Given the description of an element on the screen output the (x, y) to click on. 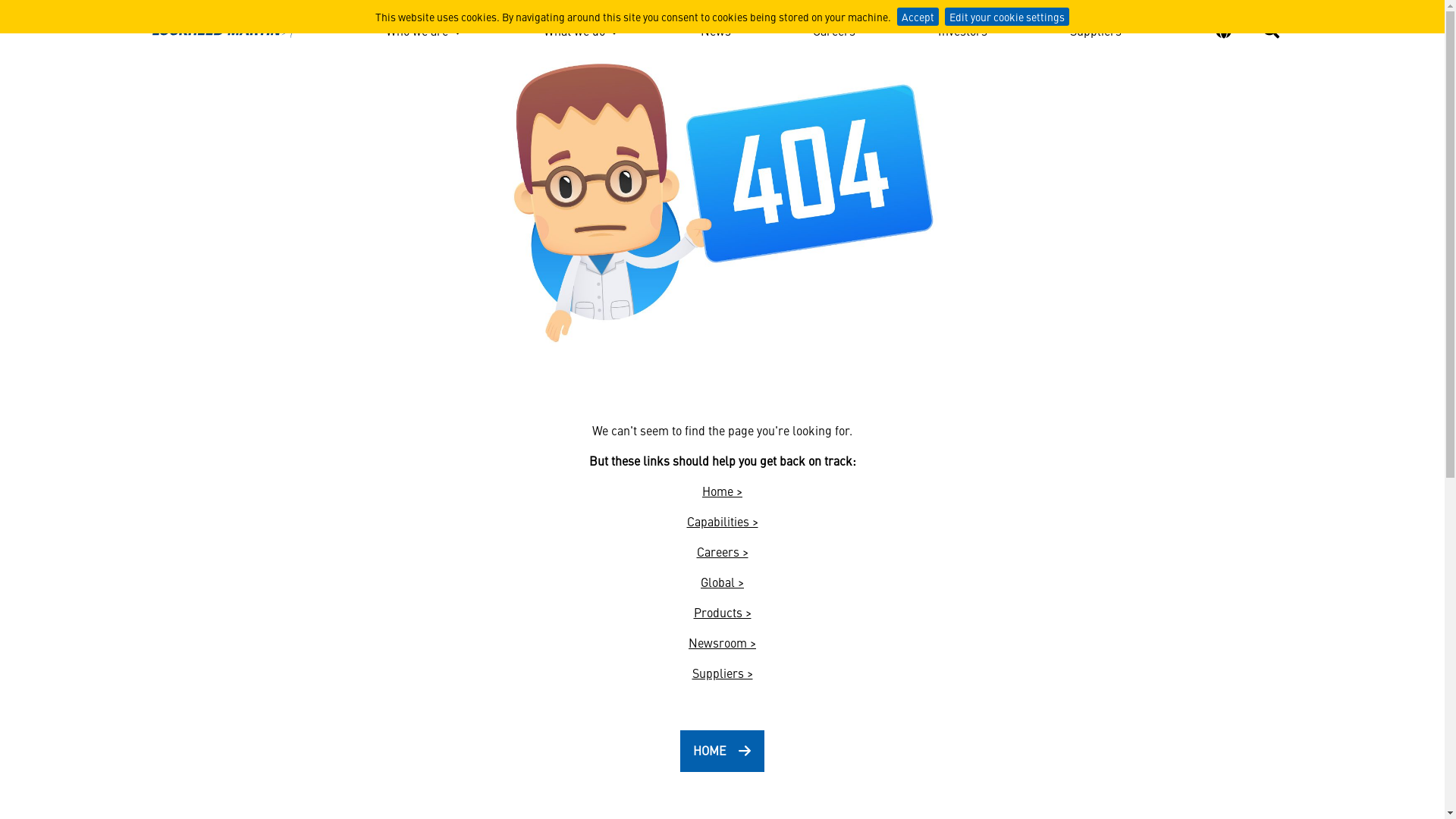
News Element type: text (715, 32)
Global > Element type: text (721, 581)
HOME Element type: text (722, 750)
Edit your cookie settings Element type: text (1006, 16)
Capabilities > Element type: text (722, 520)
Products > Element type: text (721, 611)
Careers > Element type: text (721, 550)
Who we are Element type: text (423, 32)
Home > Element type: text (722, 490)
Investors Element type: text (962, 32)
What we do Element type: text (580, 32)
Accept Element type: text (917, 16)
Suppliers > Element type: text (721, 672)
Careers Element type: text (833, 32)
Newsroom > Element type: text (722, 641)
Suppliers Element type: text (1095, 32)
